Given the description of an element on the screen output the (x, y) to click on. 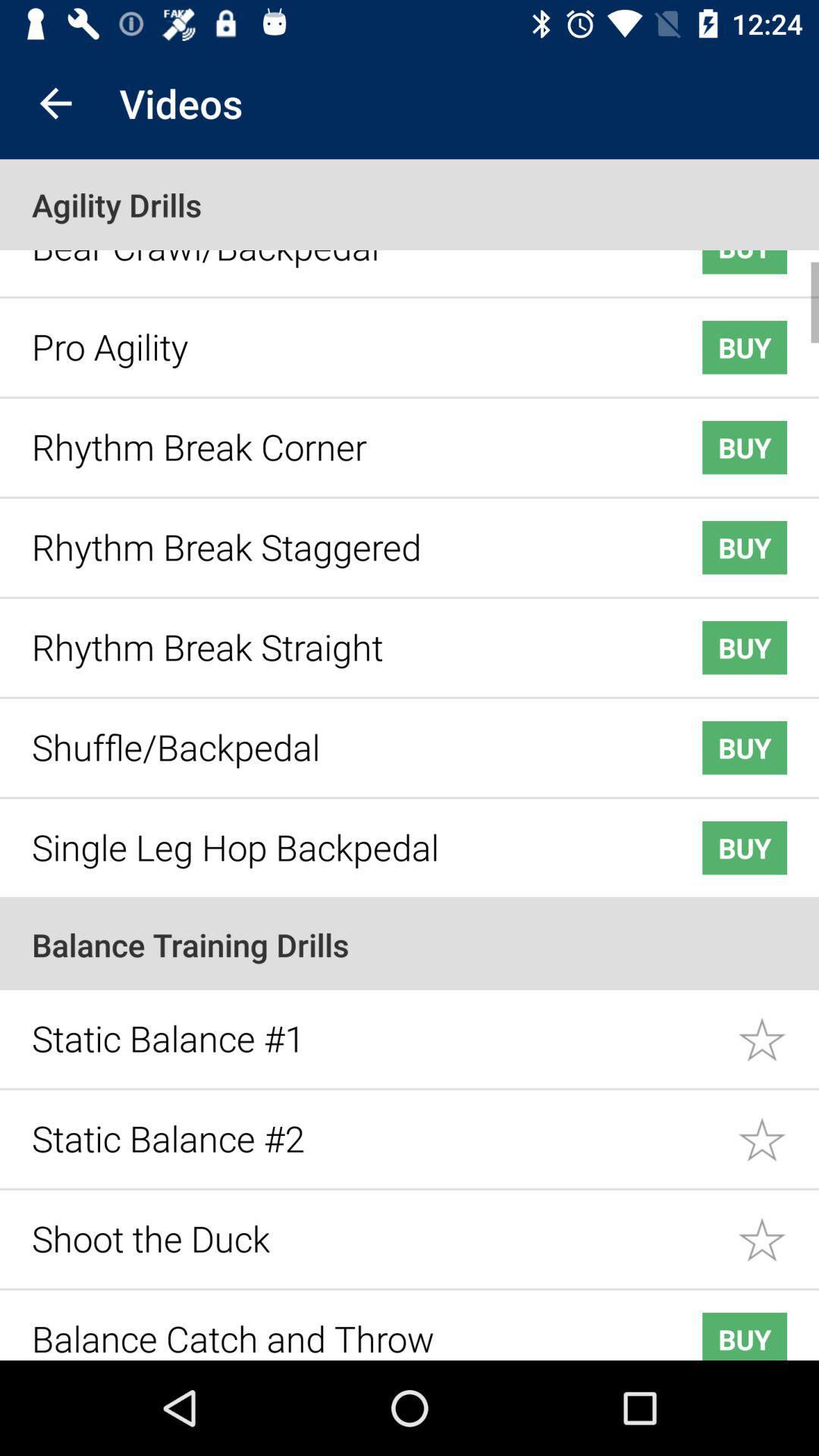
save as favorite (778, 1128)
